Given the description of an element on the screen output the (x, y) to click on. 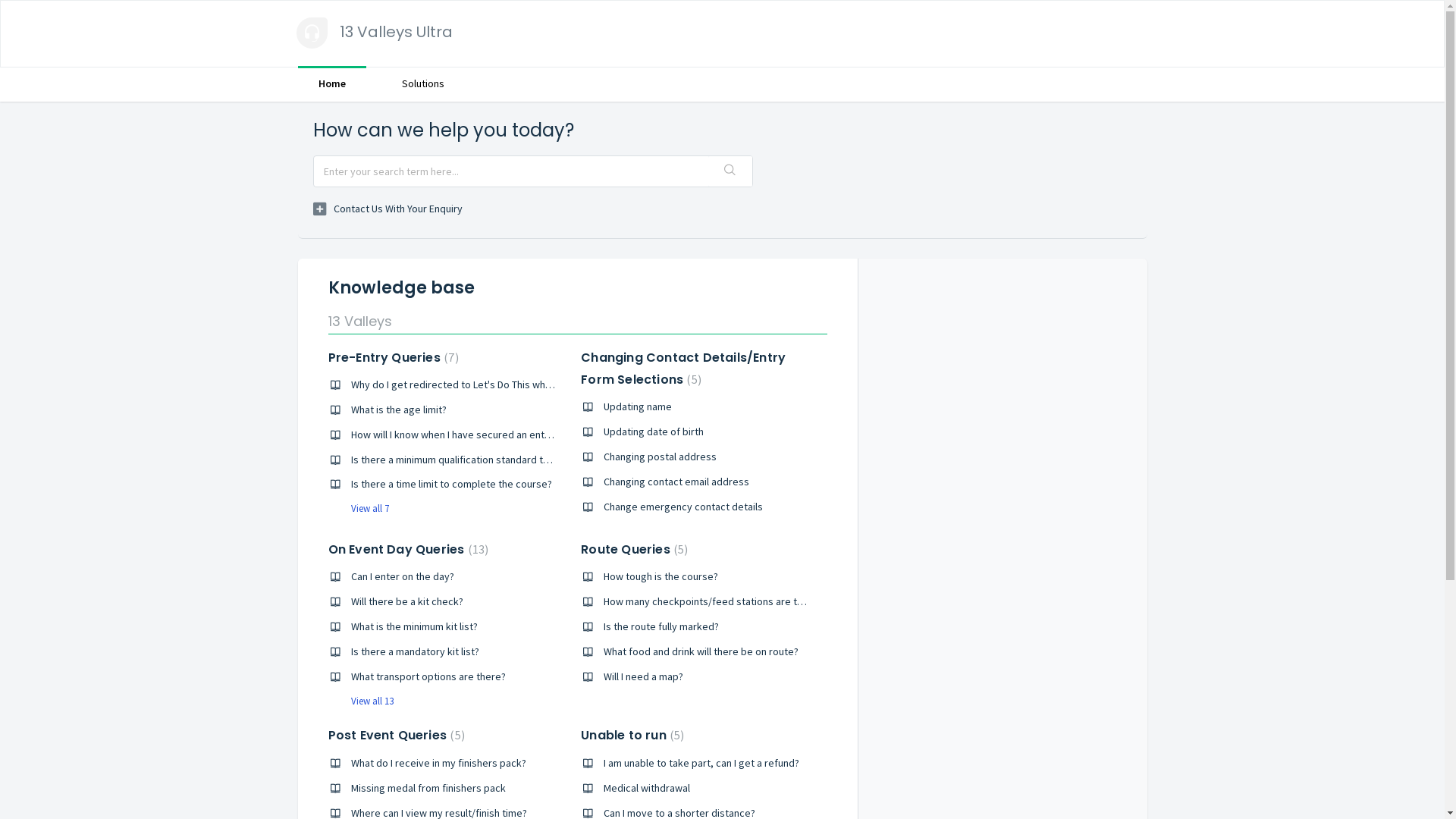
What food and drink will there be on route? Element type: text (700, 651)
What do I receive in my finishers pack? Element type: text (437, 762)
Will I need a map? Element type: text (643, 676)
Unable to run 5 Element type: text (632, 734)
Route Queries 5 Element type: text (633, 549)
How many checkpoints/feed stations are there? Element type: text (712, 601)
What is the age limit? Element type: text (397, 409)
What is the minimum kit list? Element type: text (413, 626)
Changing Contact Details/Entry Form Selections 5 Element type: text (682, 368)
Medical withdrawal Element type: text (646, 787)
Missing medal from finishers pack Element type: text (427, 787)
New support ticket Element type: hover (386, 209)
How will I know when I have secured an entry? Element type: text (453, 434)
Is the route fully marked? Element type: text (660, 626)
Home Element type: text (331, 83)
View all 7 Element type: text (357, 508)
Changing contact email address Element type: text (676, 481)
What transport options are there? Element type: text (427, 676)
Updating name Element type: text (637, 406)
View all 13 Element type: text (359, 700)
Pre-Entry Queries 7 Element type: text (392, 357)
I am unable to take part, can I get a refund? Element type: text (701, 762)
Can I enter on the day? Element type: text (401, 576)
Changing postal address Element type: text (659, 456)
On Event Day Queries 13 Element type: text (407, 549)
Will there be a kit check? Element type: text (406, 601)
Solutions Element type: text (422, 83)
Post Event Queries 5 Element type: text (395, 734)
Change emergency contact details Element type: text (682, 506)
Is there a time limit to complete the course? Element type: text (450, 483)
13 Valleys Element type: text (359, 320)
How tough is the course? Element type: text (660, 576)
Updating date of birth Element type: text (653, 431)
Is there a mandatory kit list? Element type: text (414, 651)
